Given the description of an element on the screen output the (x, y) to click on. 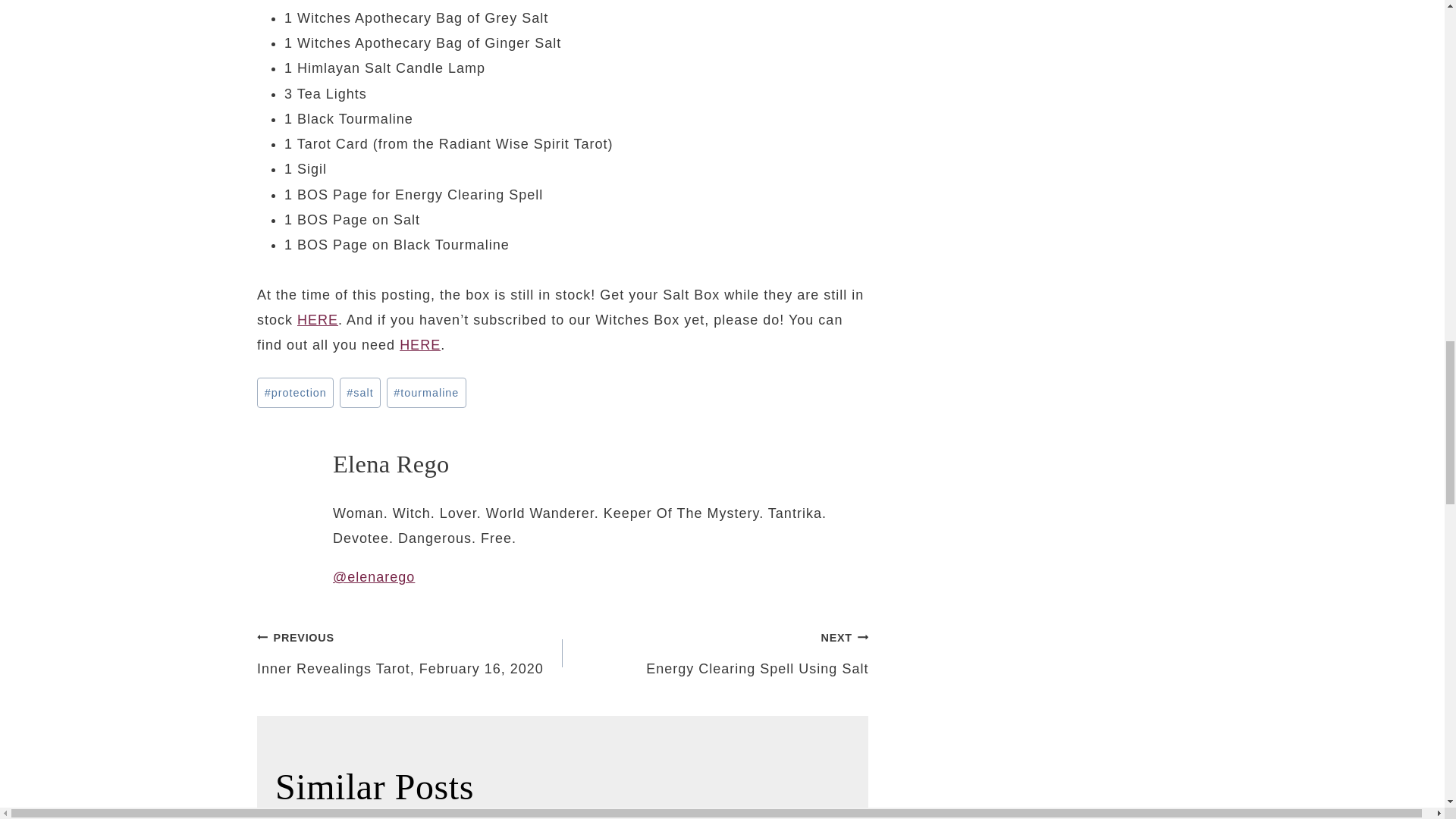
tourmaline (426, 392)
HERE (317, 319)
Elena Rego (390, 463)
HERE (419, 344)
salt (714, 653)
protection (409, 653)
Posts by Elena Rego (360, 392)
